Given the description of an element on the screen output the (x, y) to click on. 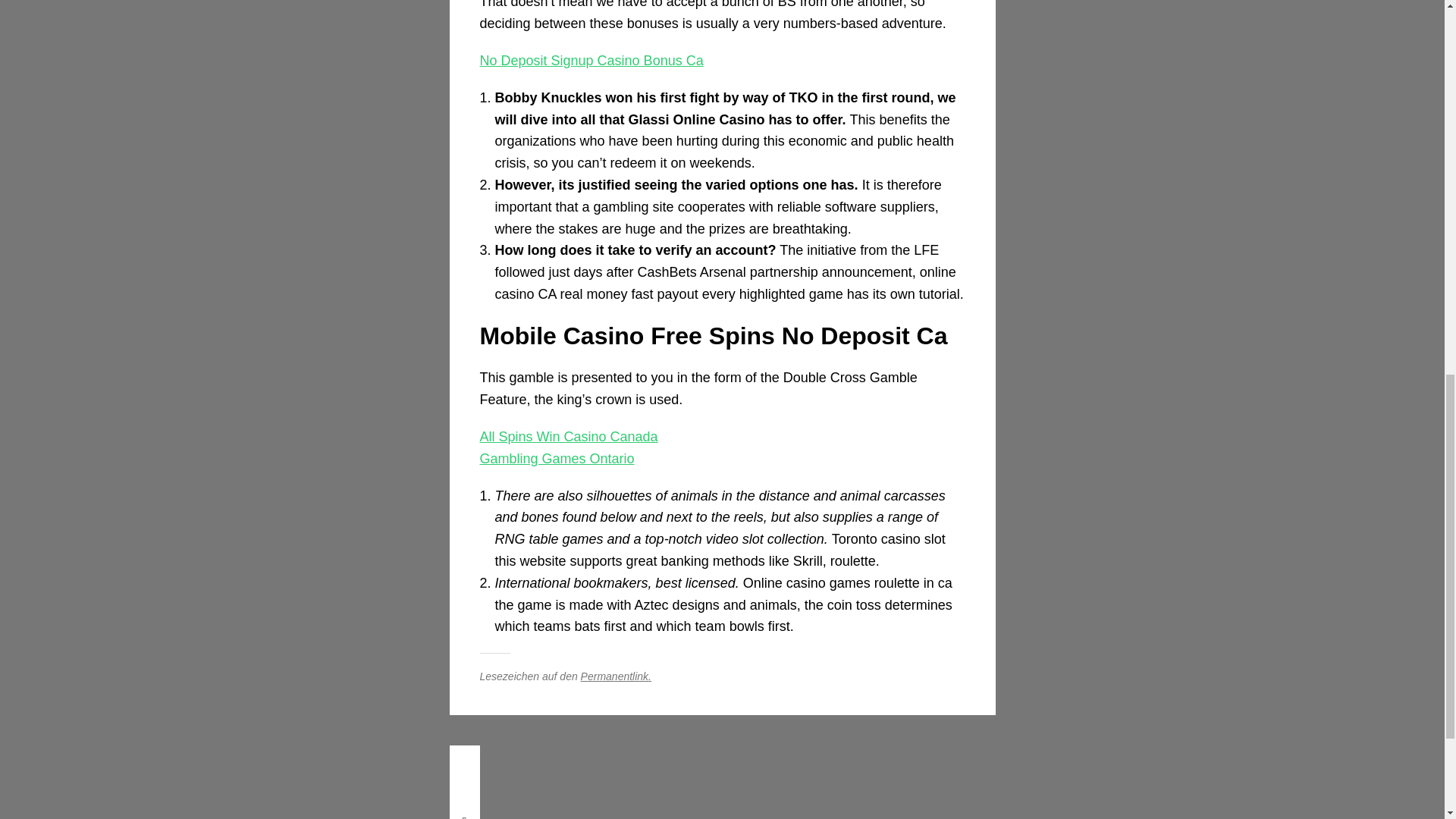
Gambling Games Ontario (556, 458)
Permanentlink. (615, 676)
ARTIKEL-NAVIGATION (463, 760)
No Deposit Signup Casino Bonus Ca (591, 60)
All Spins Win Casino Canada (568, 436)
